Given the description of an element on the screen output the (x, y) to click on. 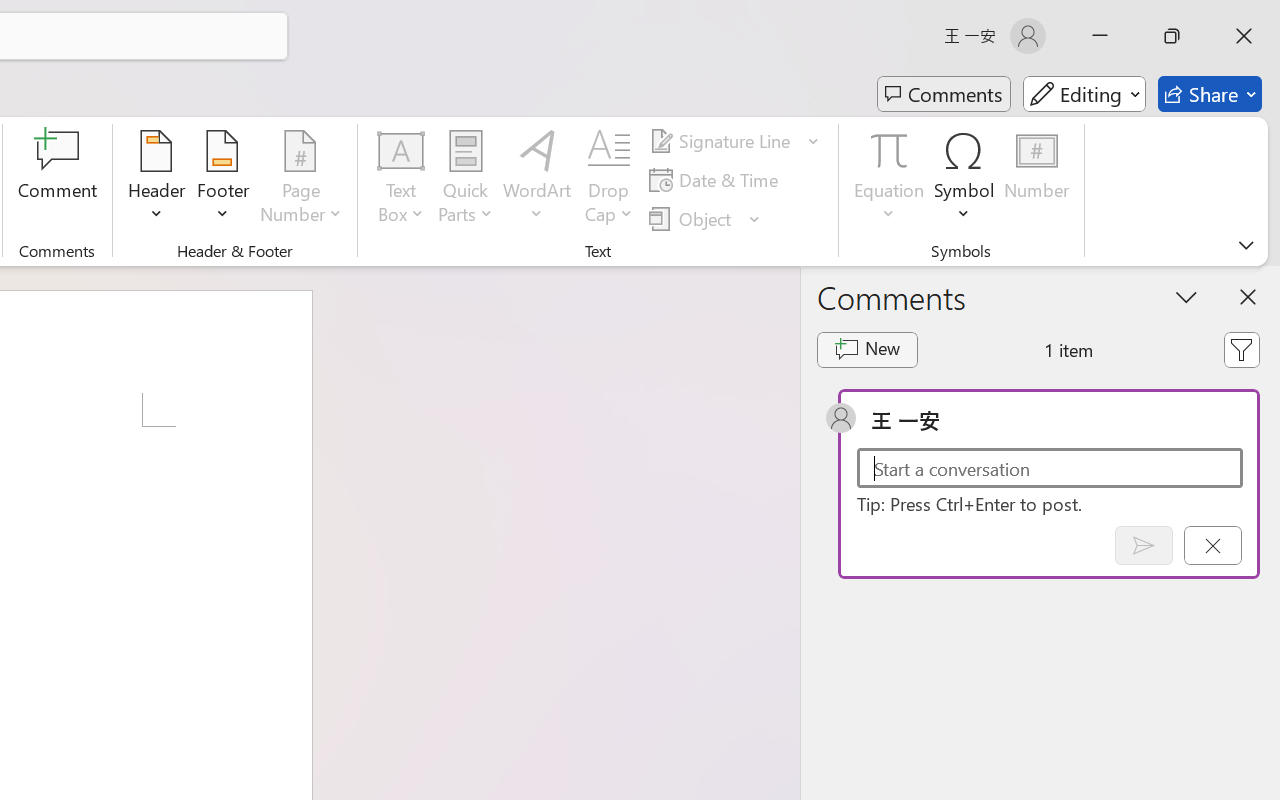
Cancel (1212, 545)
Object... (692, 218)
Text Box (400, 179)
